Given the description of an element on the screen output the (x, y) to click on. 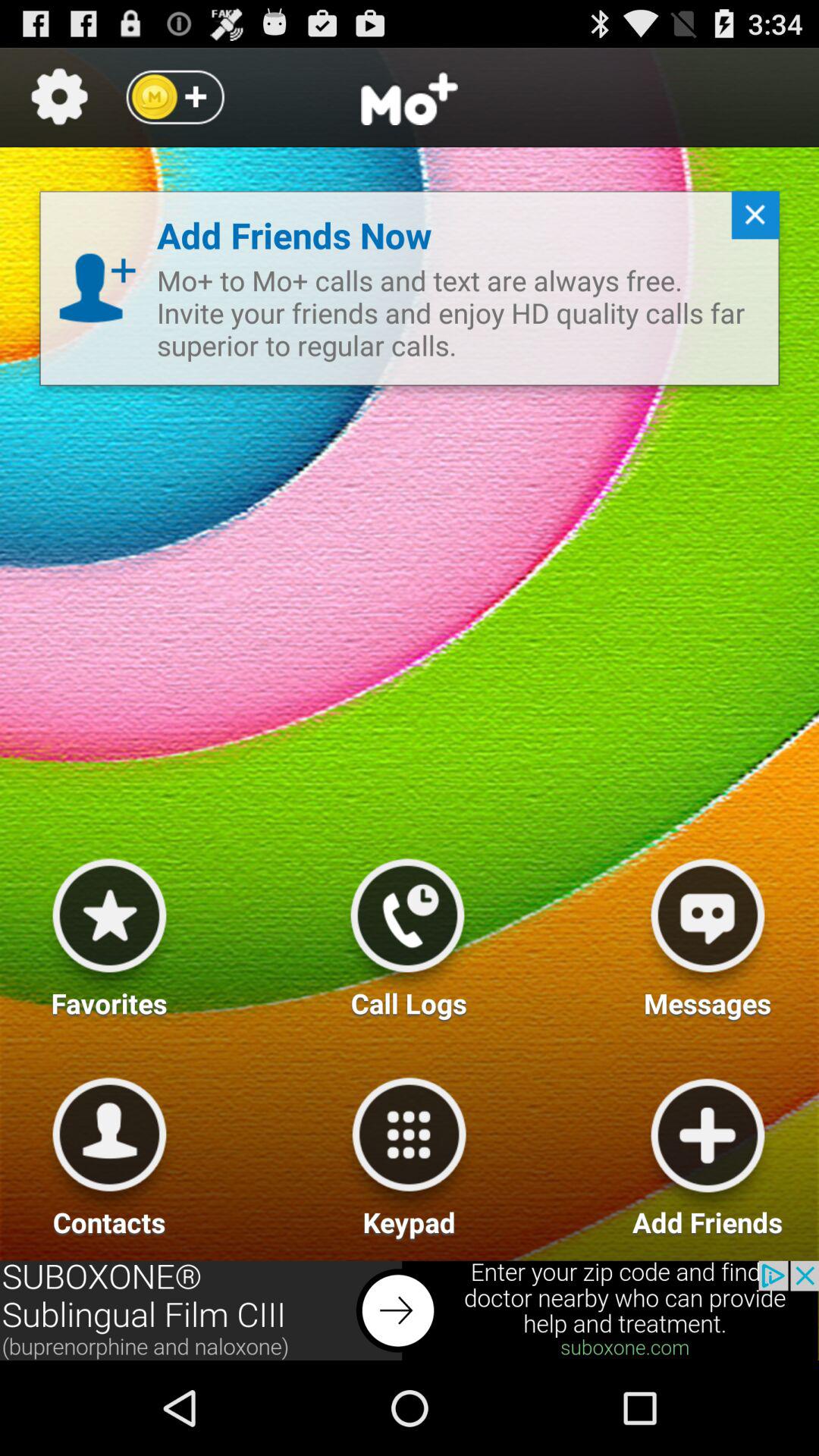
select the image (707, 932)
